Given the description of an element on the screen output the (x, y) to click on. 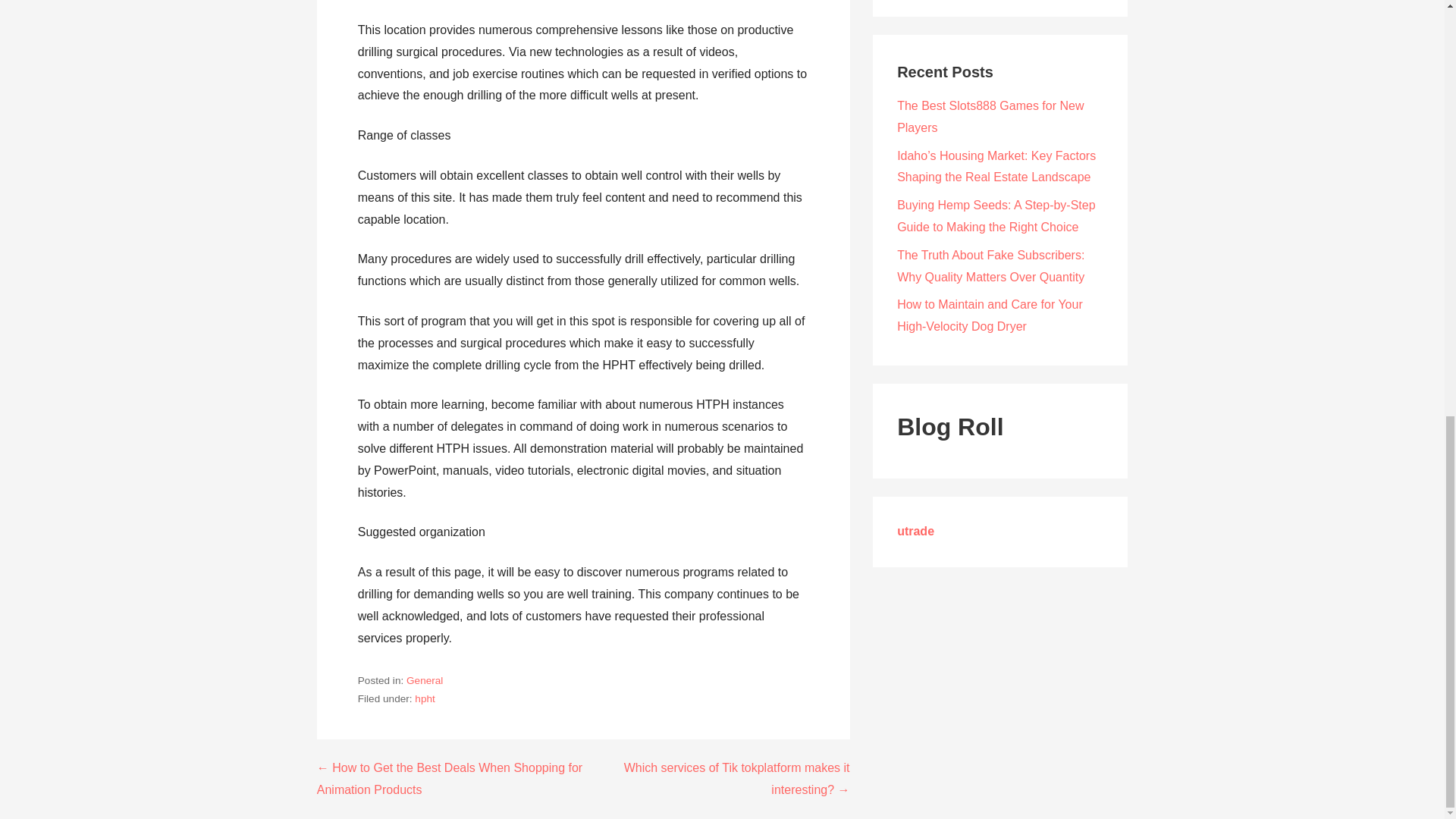
The Best Slots888 Games for New Players (989, 116)
utrade (915, 530)
How to Maintain and Care for Your High-Velocity Dog Dryer (989, 315)
hpht (423, 698)
General (424, 680)
